Given the description of an element on the screen output the (x, y) to click on. 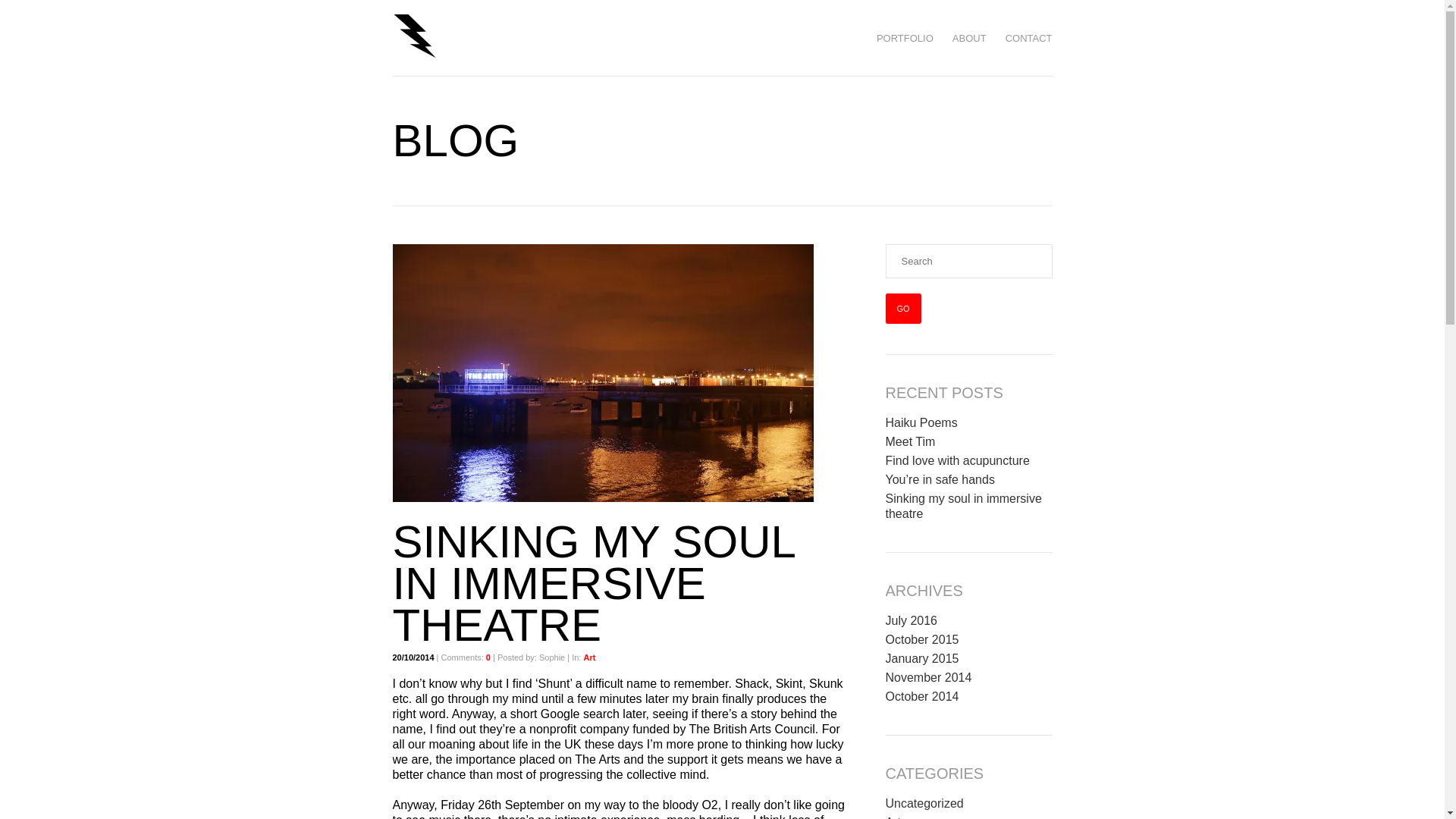
Art (589, 656)
November 2014 (928, 676)
Go (903, 308)
ABOUT (969, 37)
Uncategorized (924, 802)
Meet Tim (910, 440)
Sinking my soul in immersive theatre (963, 506)
July 2016 (911, 620)
PORTFOLIO (904, 37)
October 2014 (922, 696)
October 2015 (922, 639)
January 2015 (922, 658)
Art (893, 817)
Find love with acupuncture (957, 460)
CONTACT (1029, 37)
